Given the description of an element on the screen output the (x, y) to click on. 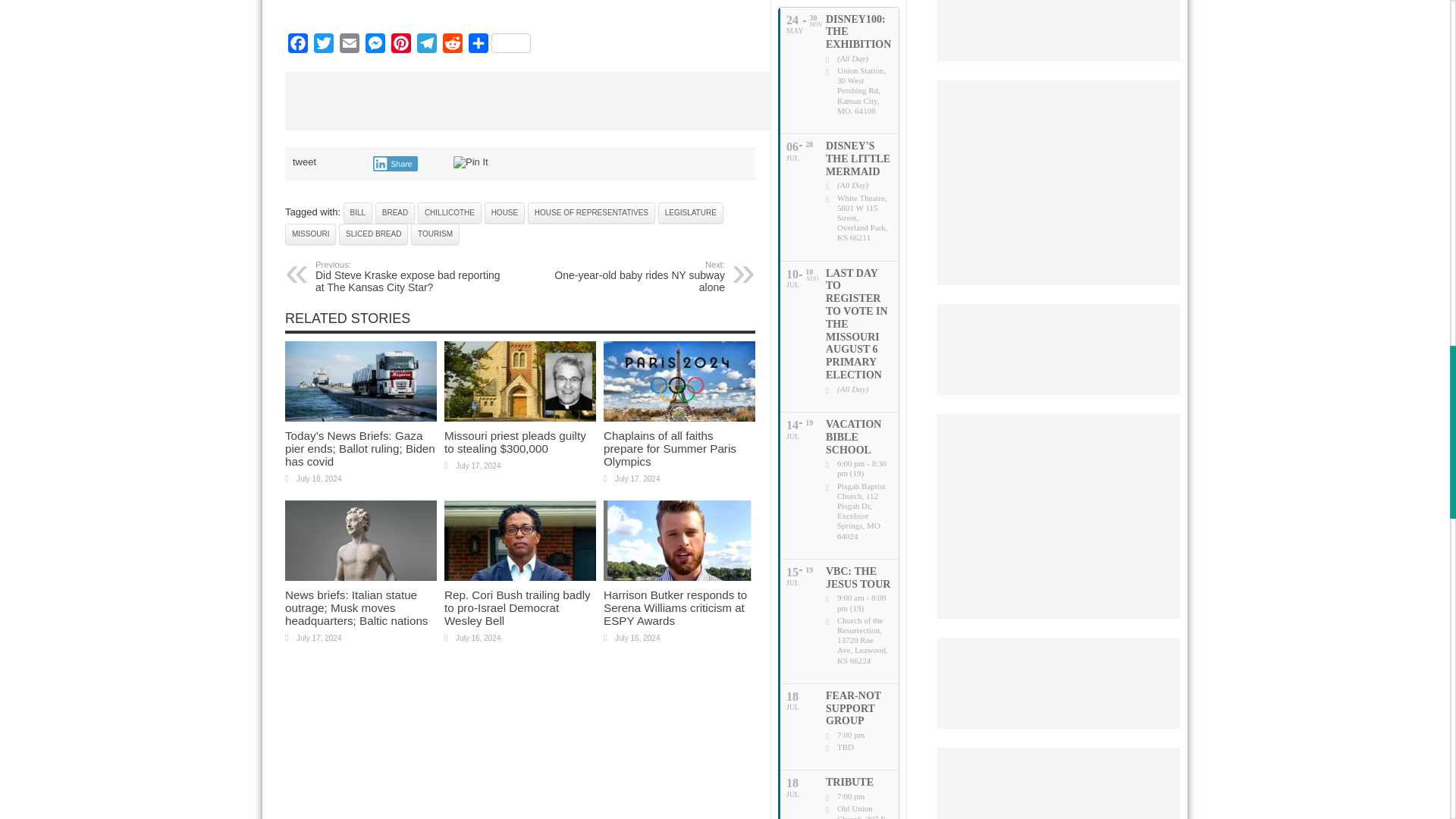
Email (349, 45)
Twitter (323, 45)
Facebook (298, 45)
Pinterest (400, 45)
Messenger (375, 45)
